Given the description of an element on the screen output the (x, y) to click on. 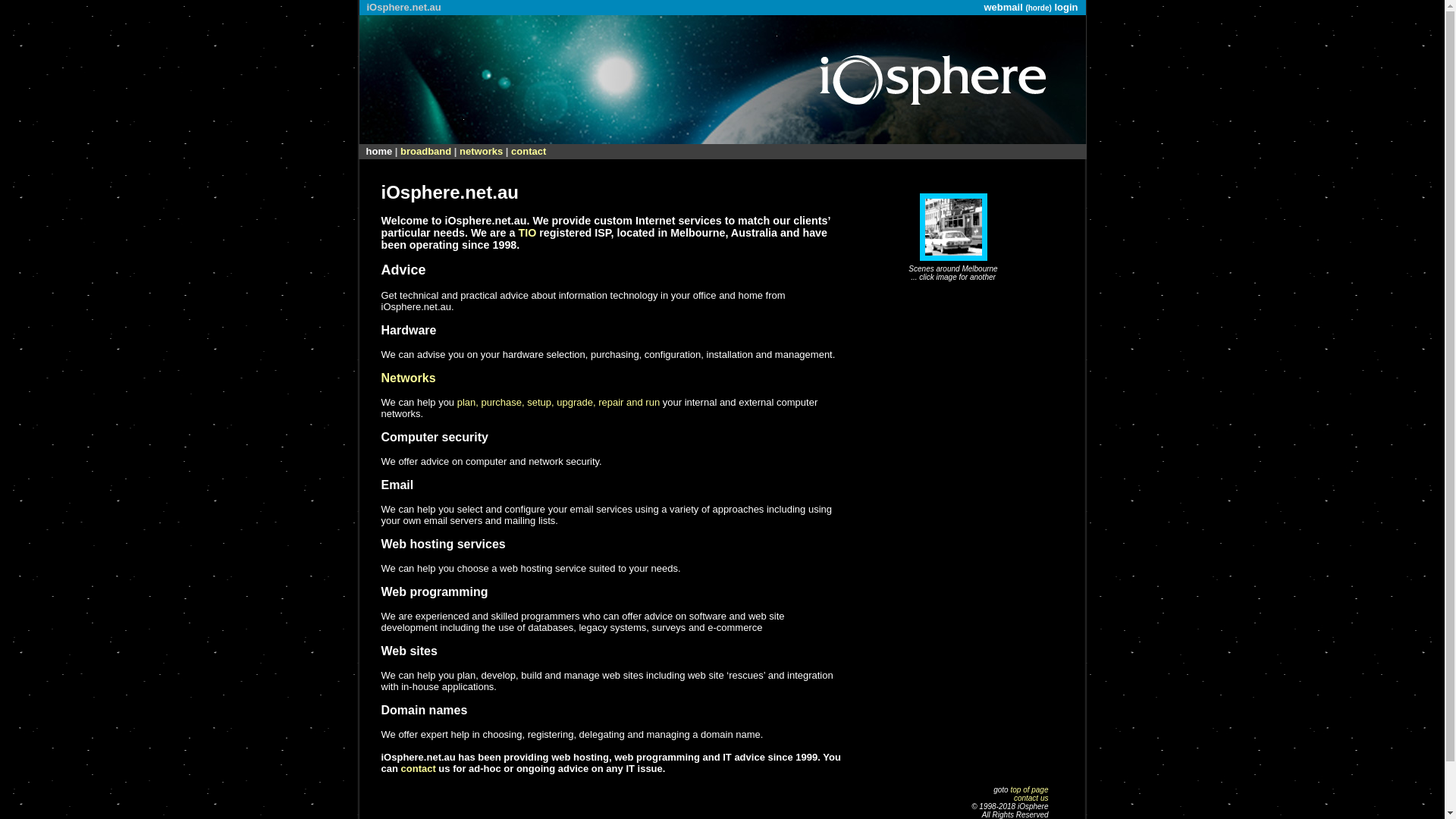
broadband Element type: text (425, 150)
home Element type: text (378, 150)
contact us Element type: text (1030, 797)
TIO Element type: text (526, 232)
webmail (horde) login Element type: text (1030, 6)
contact Element type: text (418, 768)
top of page Element type: text (1029, 789)
plan, purchase, setup, upgrade, repair and run Element type: text (558, 401)
Networks Element type: text (407, 377)
contact Element type: text (528, 150)
networks Element type: text (480, 150)
